Given the description of an element on the screen output the (x, y) to click on. 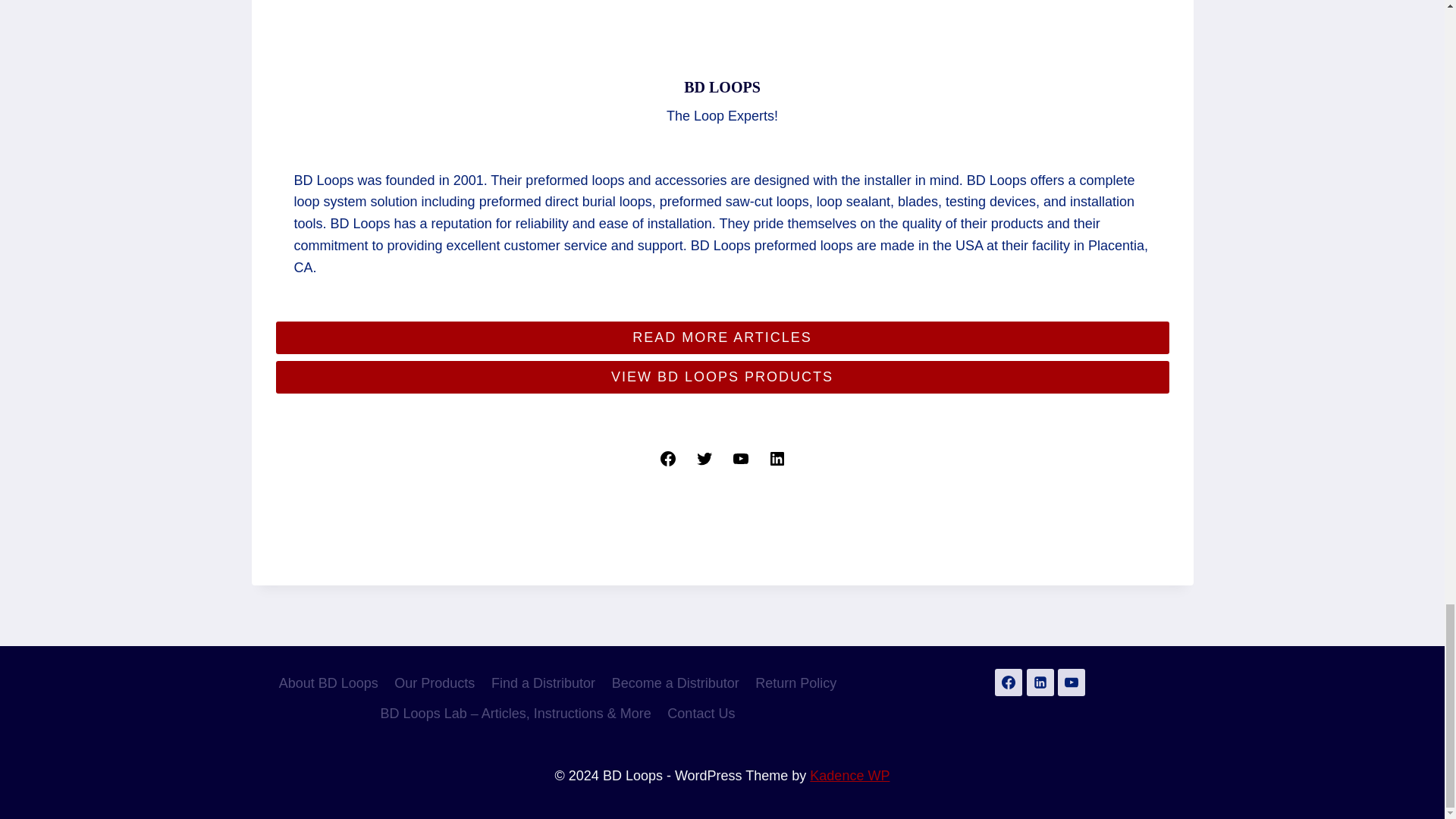
READ MORE ARTICLES (722, 337)
Find a Distributor (543, 684)
Contact Us (701, 713)
BD LOOPS (722, 86)
Our Products (435, 684)
VIEW BD LOOPS PRODUCTS (722, 377)
Kadence WP (849, 775)
LinkedIn (776, 458)
Facebook (667, 458)
YouTube (740, 458)
